Given the description of an element on the screen output the (x, y) to click on. 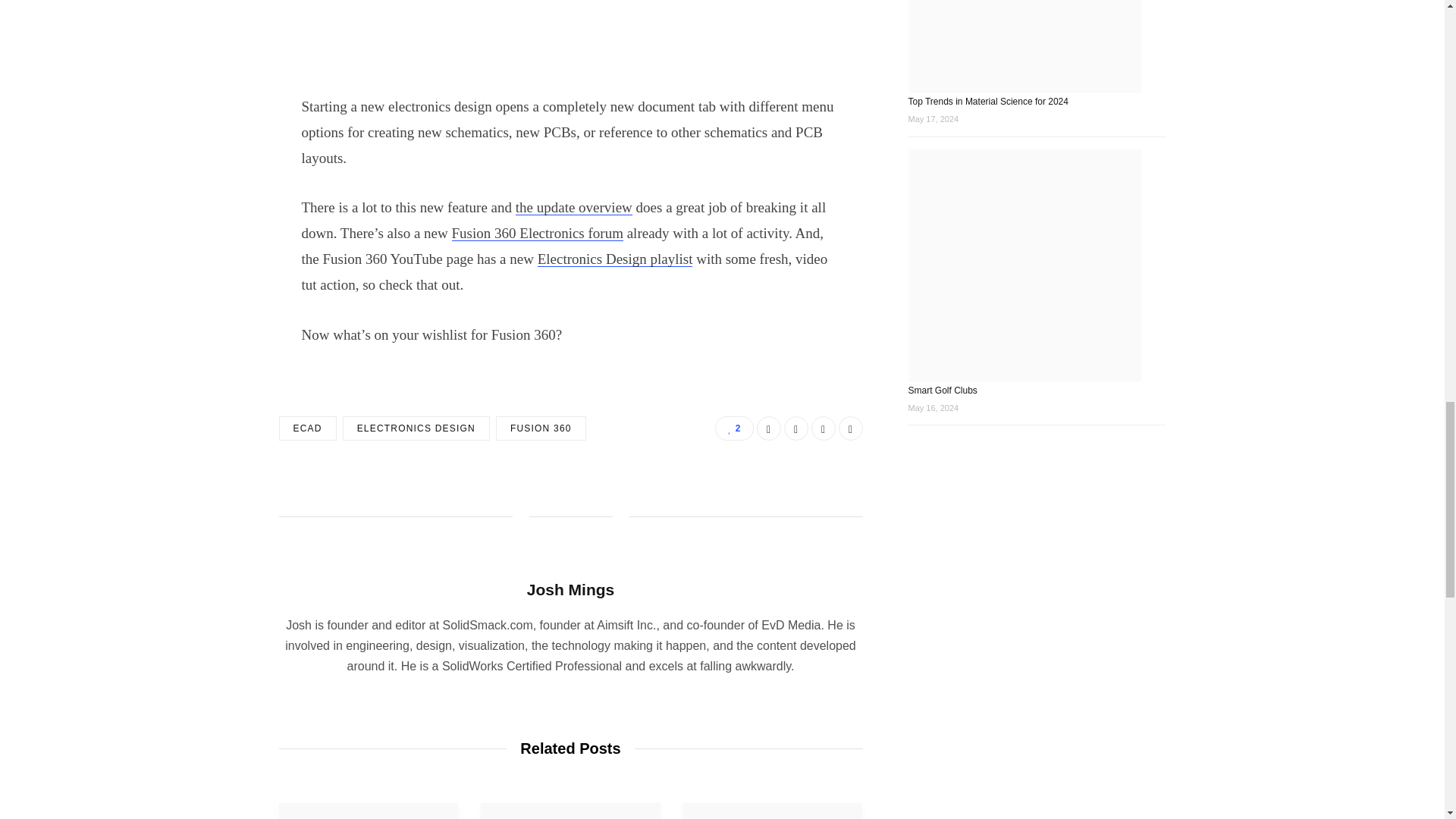
LinkedIn (822, 428)
ECAD (307, 428)
Josh Mings (570, 589)
Facebook (768, 428)
ELECTRONICS DESIGN (415, 428)
FUSION 360 (541, 428)
Pinterest (850, 428)
2 (733, 428)
Posts by Josh Mings (570, 589)
Cybersecurity threats to consider when 3D printing (570, 811)
Fusion 360 Electronics forum (537, 232)
Electronics Design playlist (615, 258)
the update overview (573, 207)
You Can Draw in Perspective Inside SOLIDWORKS? (772, 811)
Twitter (796, 428)
